Given the description of an element on the screen output the (x, y) to click on. 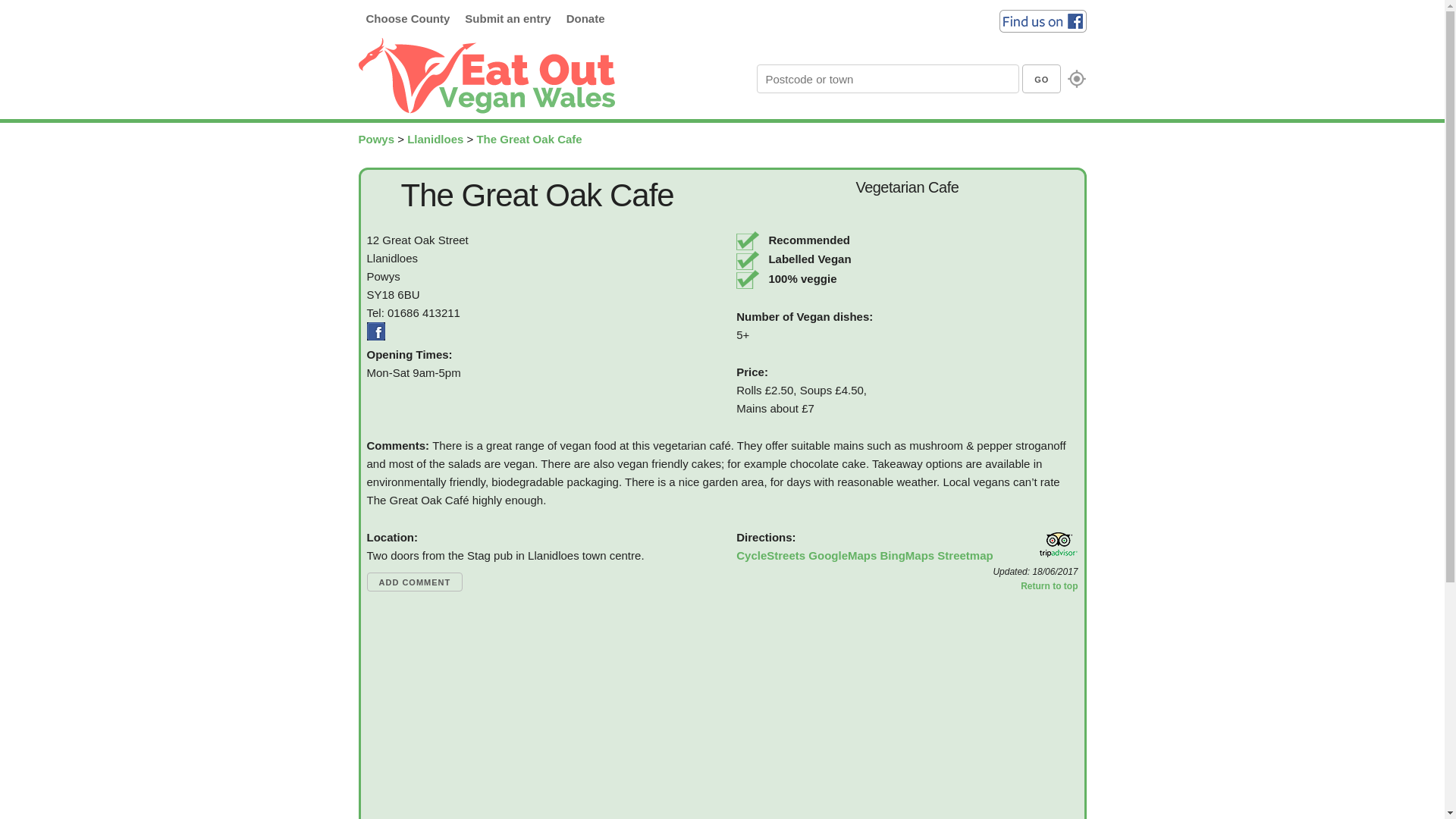
The Great Oak Cafe (528, 138)
Llanidloes (435, 138)
Submit an entry (507, 18)
Powys (376, 138)
Streetmap (964, 554)
Donate (585, 18)
GoogleMaps (842, 554)
BingMaps (906, 554)
Choose County (407, 18)
CycleStreets (770, 554)
